Given the description of an element on the screen output the (x, y) to click on. 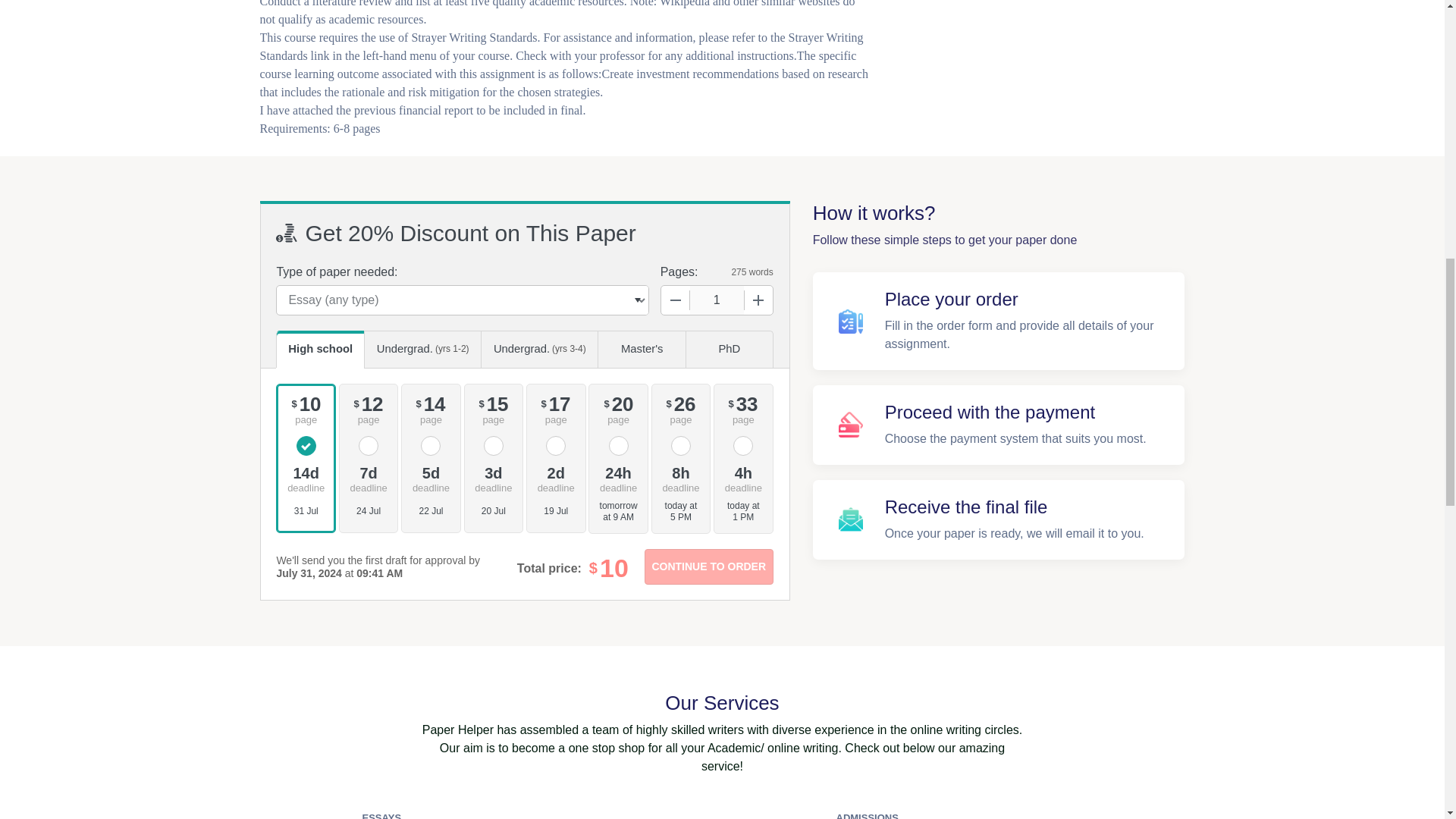
Decrease (675, 299)
1 (717, 299)
Increase (758, 299)
Continue to order (709, 566)
Continue to order (709, 566)
